Given the description of an element on the screen output the (x, y) to click on. 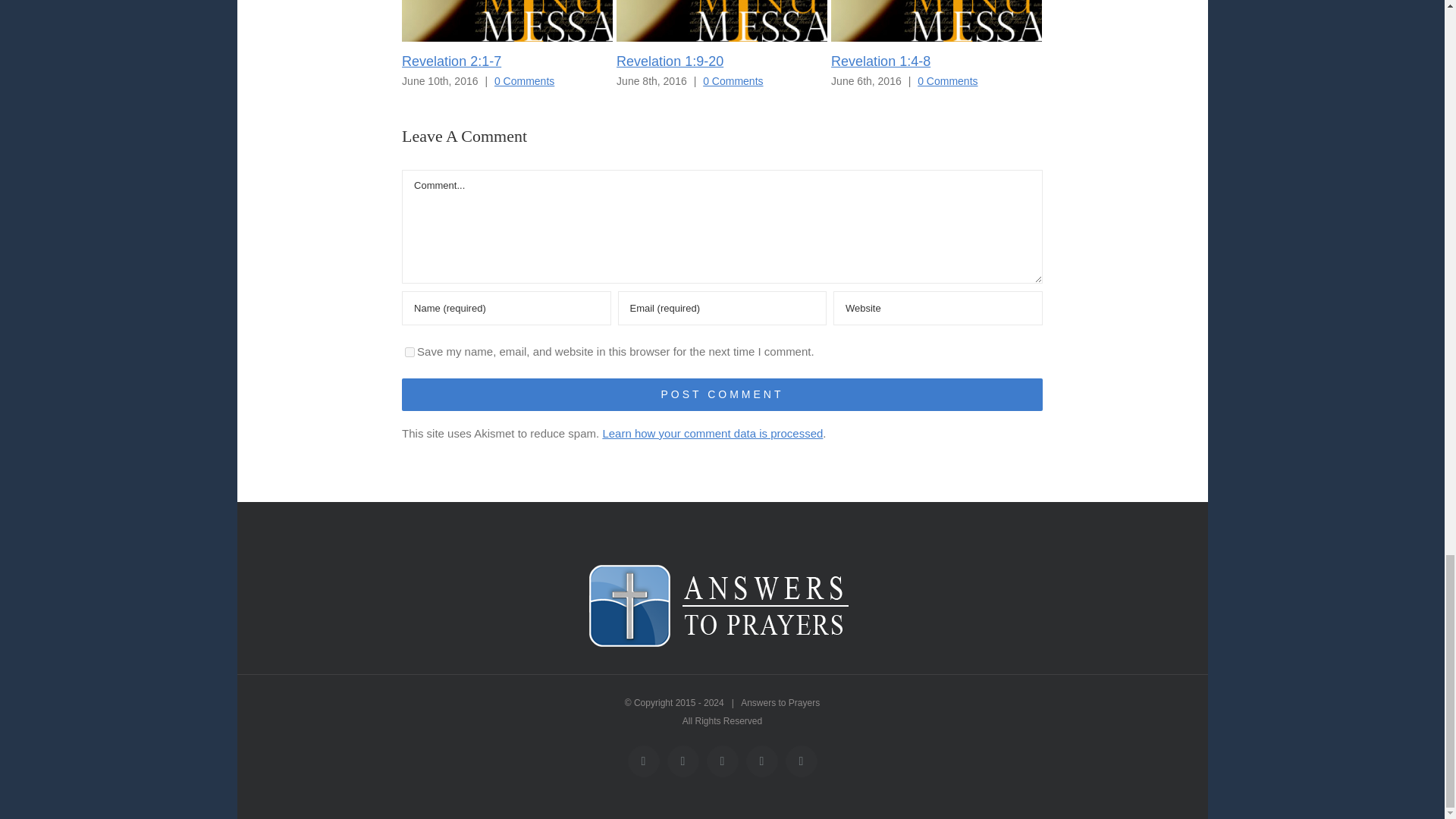
yes (409, 352)
Revelation 2:1-7 (450, 61)
Revelation 1:9-20 (669, 61)
0 Comments (732, 80)
Post Comment (721, 394)
0 Comments (946, 80)
Revelation 1:4-8 (880, 61)
0 Comments (524, 80)
